Given the description of an element on the screen output the (x, y) to click on. 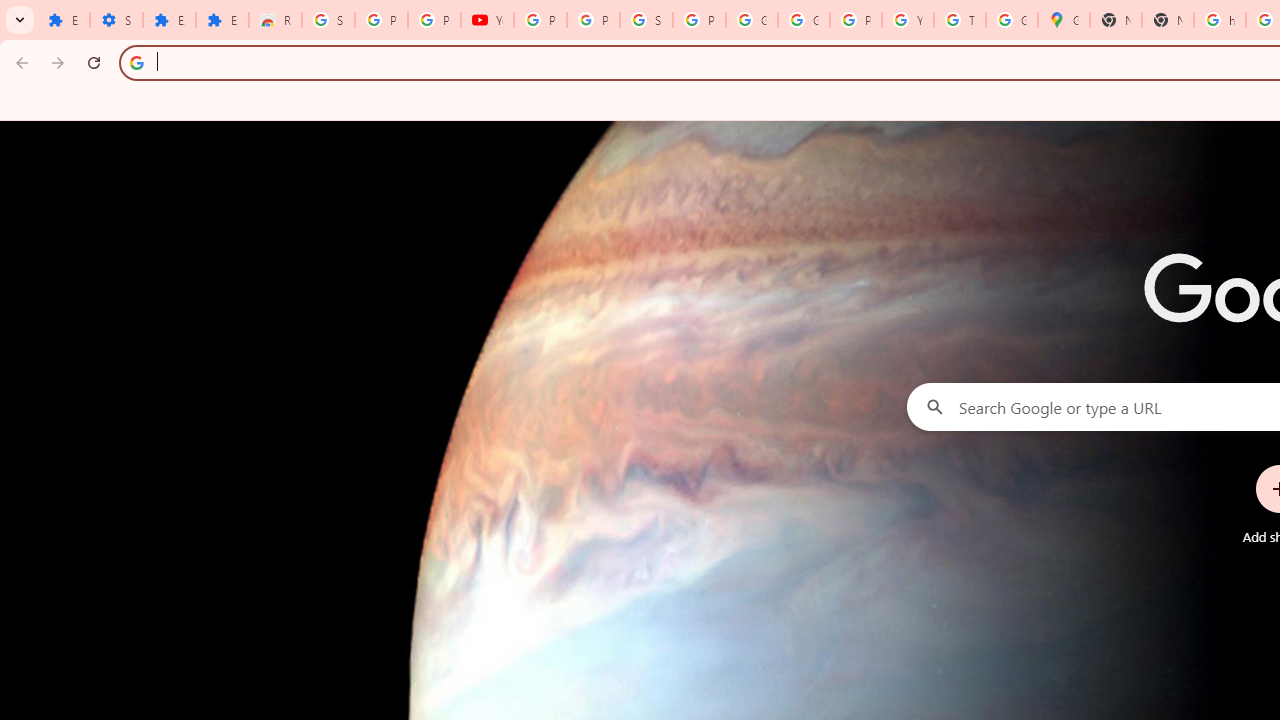
Reviews: Helix Fruit Jump Arcade Game (275, 20)
New Tab (1115, 20)
Extensions (63, 20)
Sign in - Google Accounts (646, 20)
YouTube (487, 20)
